Given the description of an element on the screen output the (x, y) to click on. 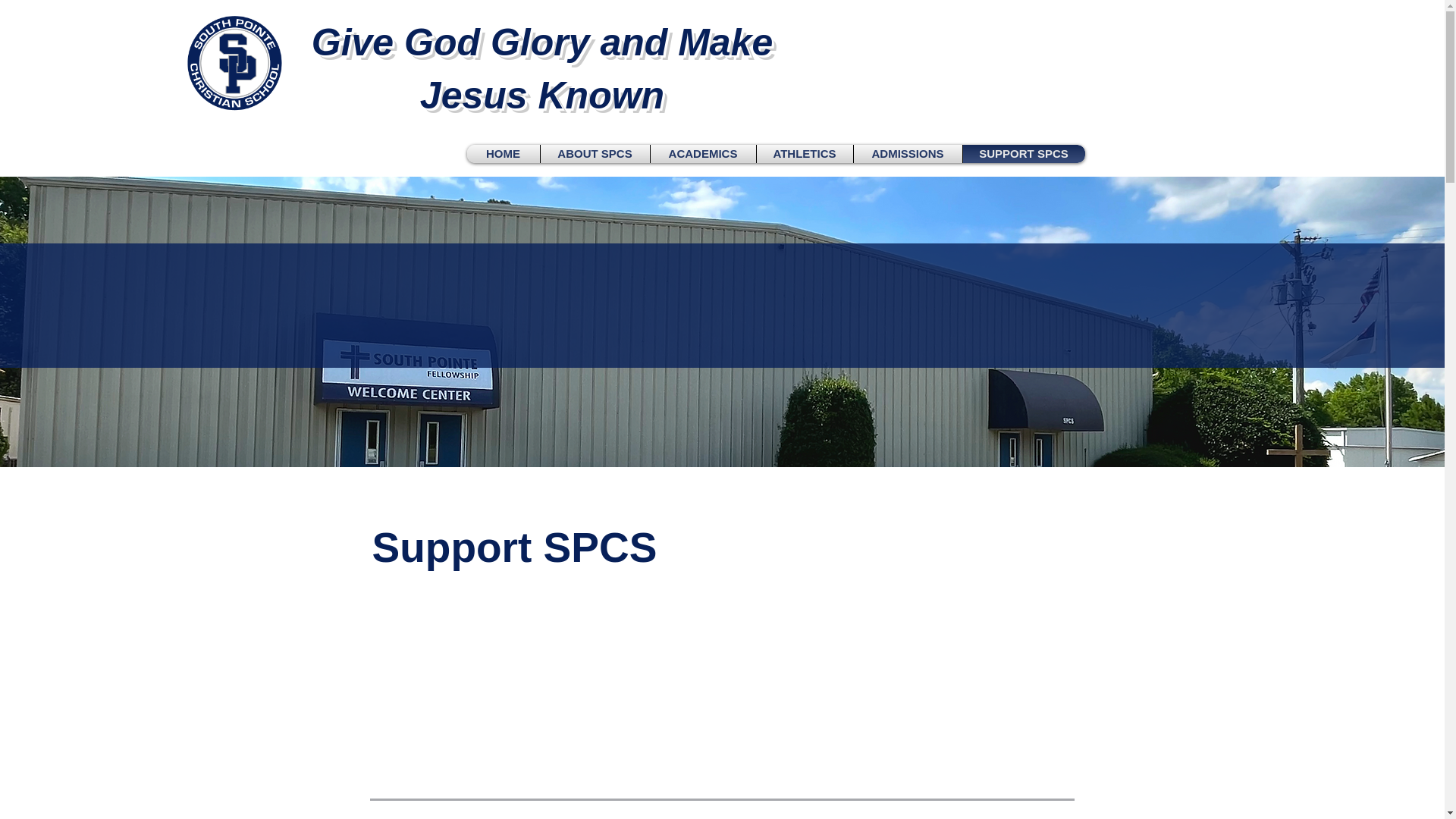
ACADEMICS (702, 153)
ADMISSIONS (907, 153)
SUPPORT SPCS (1023, 153)
ATHLETICS (804, 153)
HOME (502, 153)
ABOUT SPCS (595, 153)
